Given the description of an element on the screen output the (x, y) to click on. 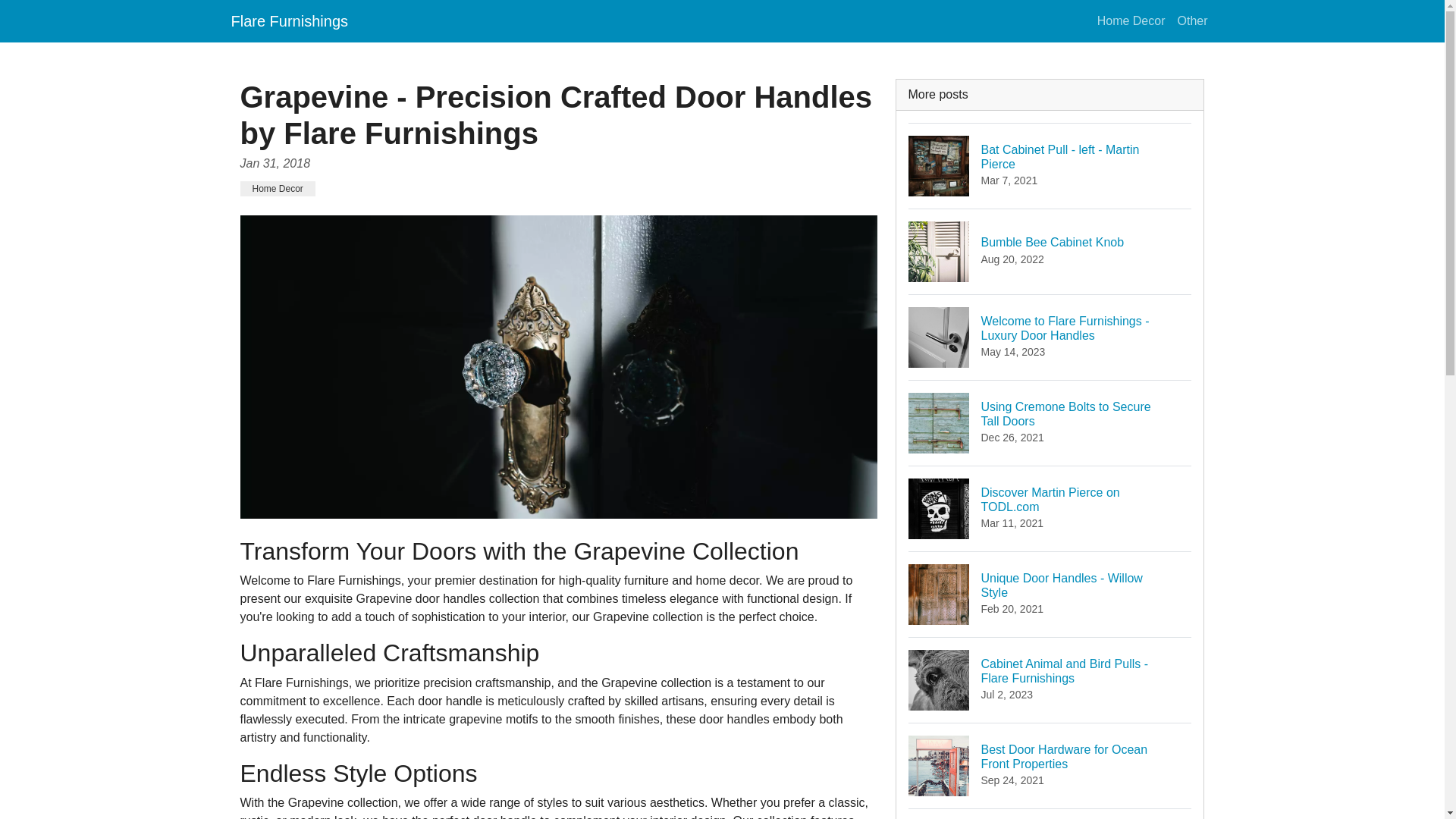
Other (1050, 423)
Home Decor (1191, 20)
Flare Furnishings (1050, 165)
Home Decor (1050, 508)
